Given the description of an element on the screen output the (x, y) to click on. 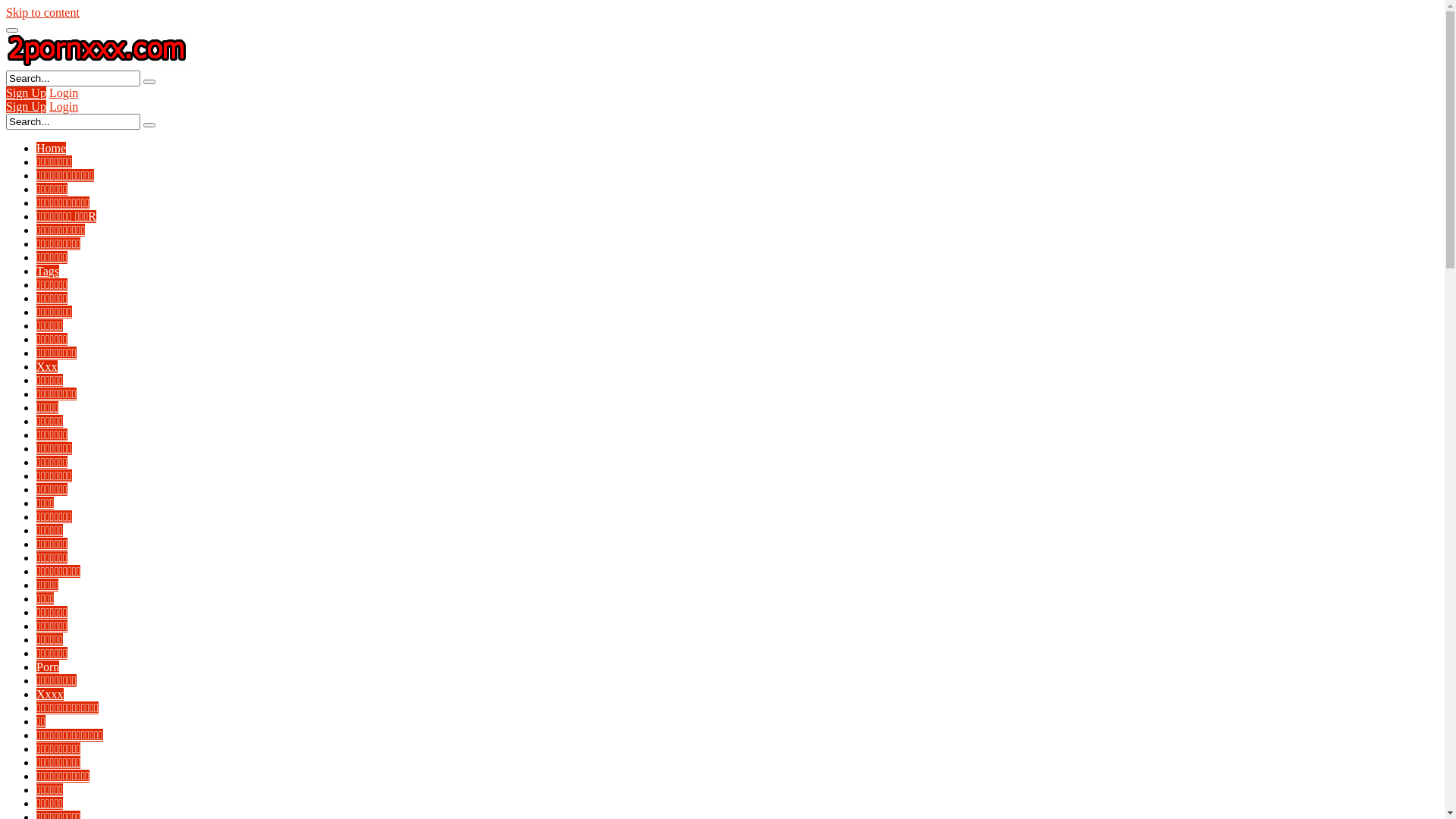
Home Element type: text (50, 147)
Skip to content Element type: text (42, 12)
Xxx Element type: text (46, 366)
Tags Element type: text (47, 270)
Xxxx Element type: text (49, 693)
Sign Up Element type: text (26, 106)
Login Element type: text (63, 92)
Sign Up Element type: text (26, 92)
Porn Element type: text (47, 666)
Login Element type: text (63, 106)
